Given the description of an element on the screen output the (x, y) to click on. 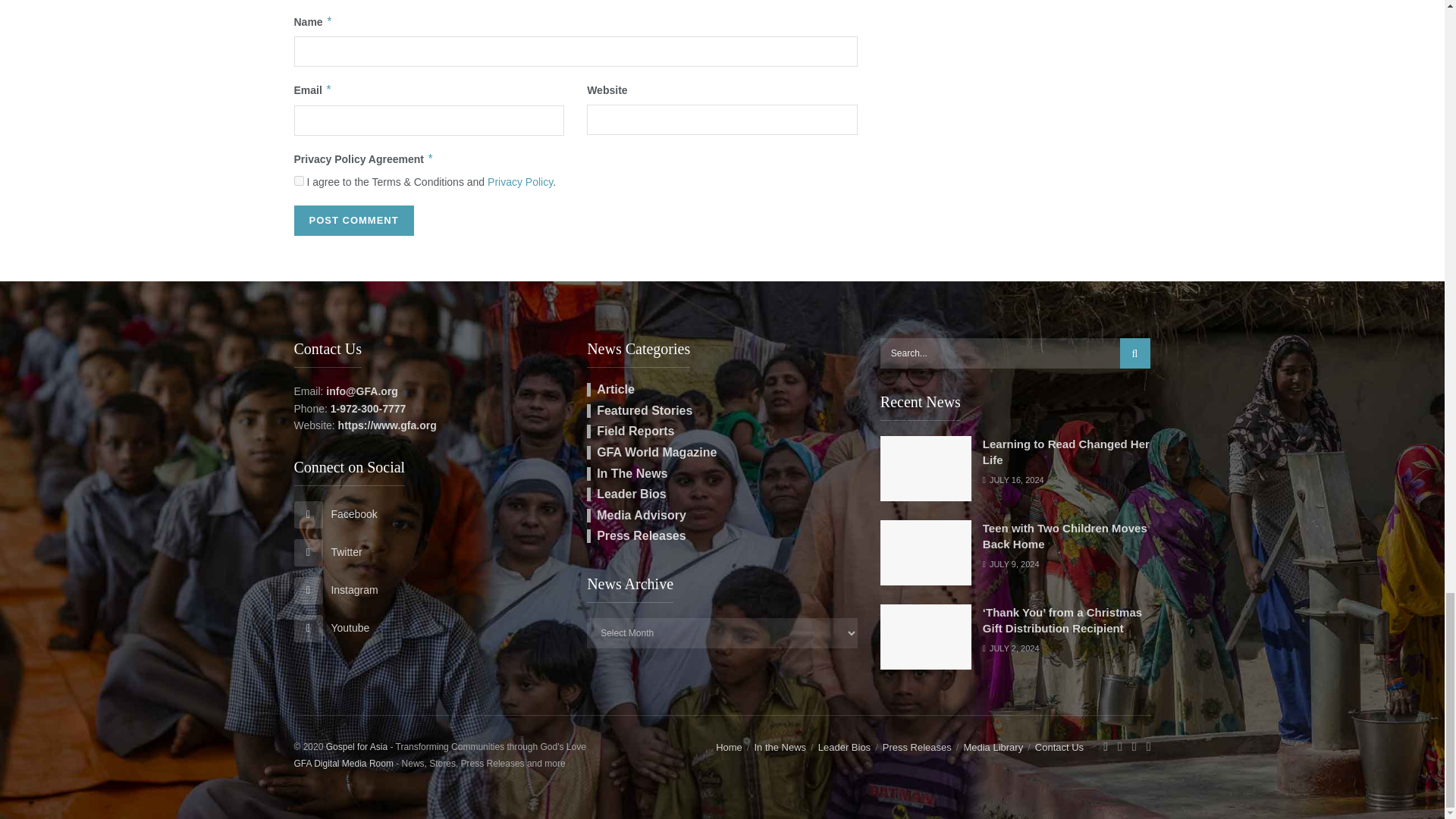
on (299, 180)
Post Comment (353, 220)
GFA Digital Media Room (343, 763)
Gospel for Asia (356, 747)
